Given the description of an element on the screen output the (x, y) to click on. 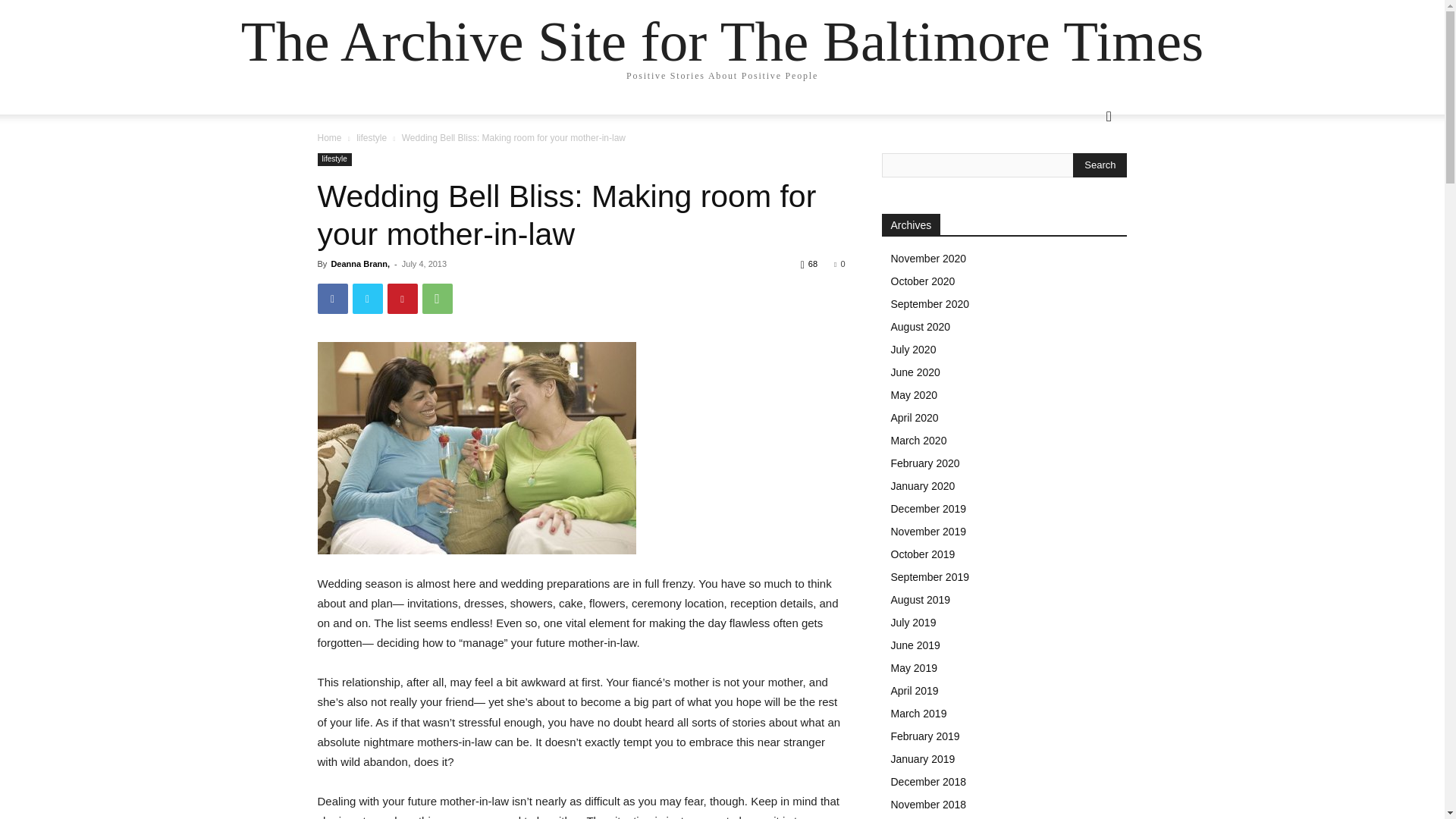
lifestyle (371, 137)
June 2020 (914, 372)
Search (1085, 177)
August 2020 (919, 326)
Deanna Brann, (360, 263)
November 2020 (927, 258)
lifestyle (333, 159)
The Archive Site for The Baltimore Times (722, 41)
View all posts in lifestyle (371, 137)
Search (1099, 165)
WhatsApp (436, 298)
July 2020 (912, 349)
Home (328, 137)
September 2020 (929, 304)
October 2020 (922, 281)
